Given the description of an element on the screen output the (x, y) to click on. 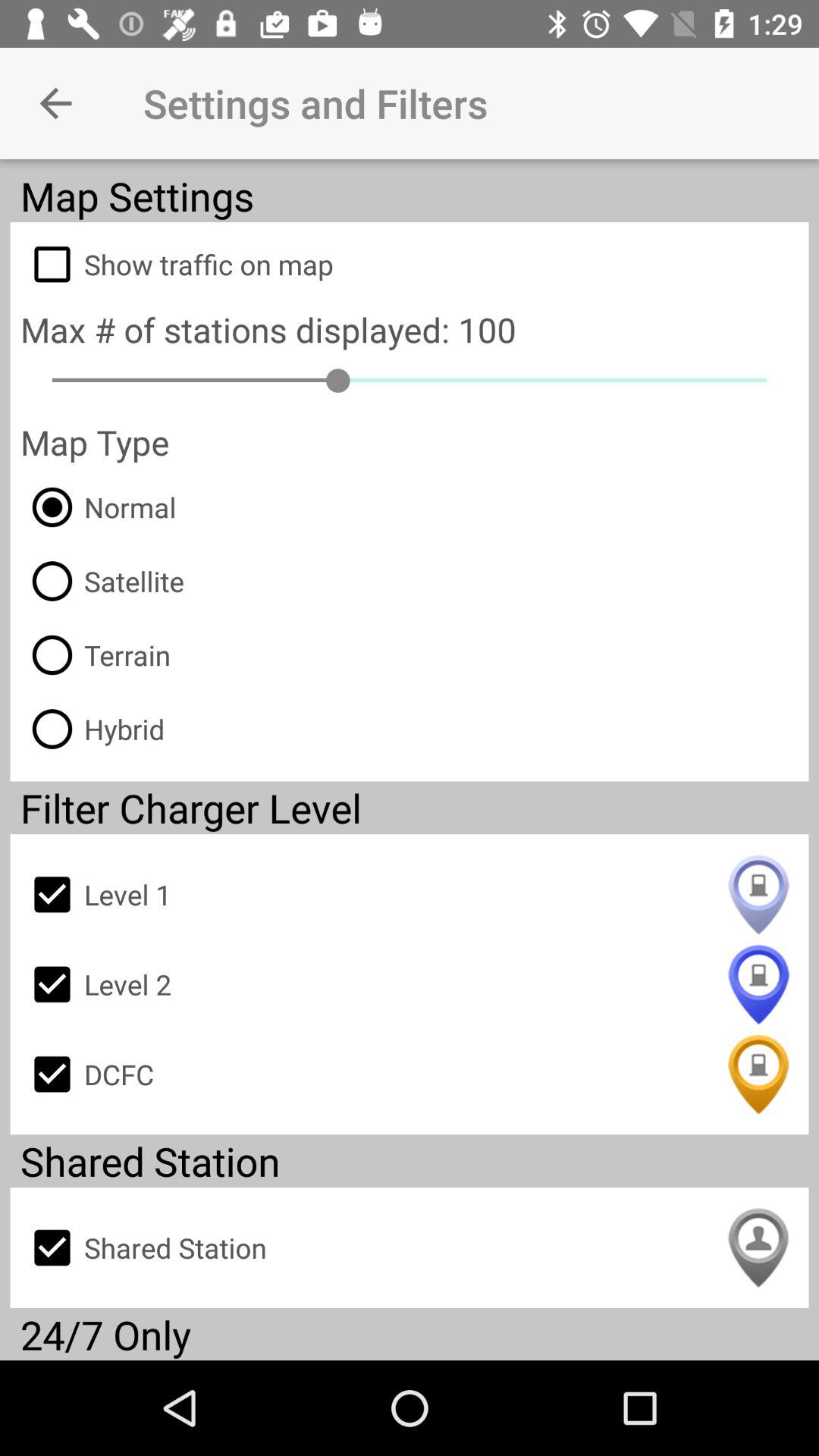
open the icon below the map type (98, 507)
